Given the description of an element on the screen output the (x, y) to click on. 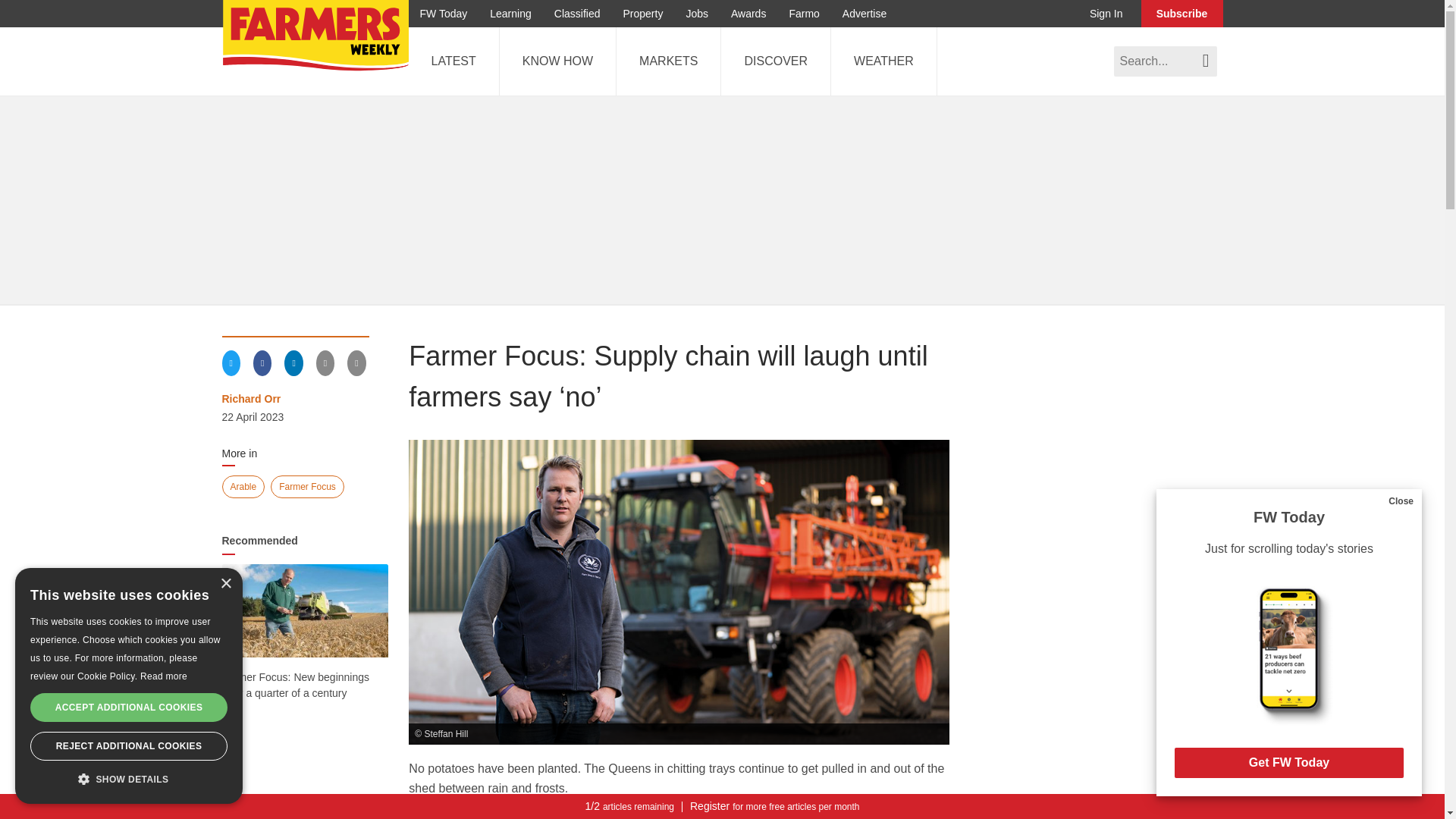
3rd party ad content (1108, 569)
